Given the description of an element on the screen output the (x, y) to click on. 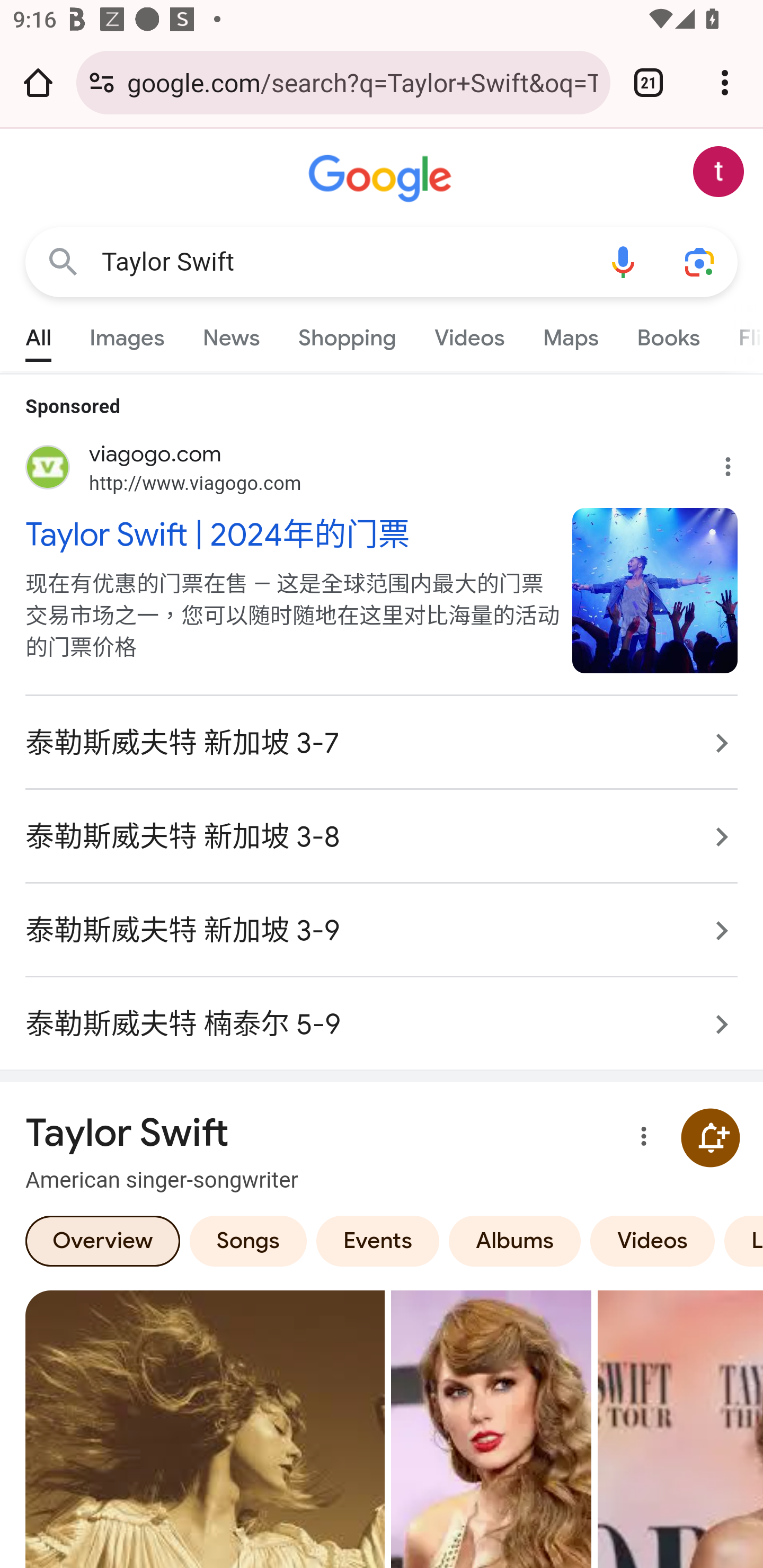
Open the home page (38, 82)
Connection is secure (101, 82)
Switch or close tabs (648, 82)
Customize and control Google Chrome (724, 82)
Google (381, 179)
Google Search (63, 262)
Search using your camera or photos (699, 262)
Taylor Swift (343, 261)
Images (127, 333)
News (231, 333)
Shopping (347, 333)
Videos (469, 333)
Maps (570, 333)
Books (668, 333)
Why this ad? (738, 462)
Image from viagogo.com (654, 590)
Taylor Swift | 2024年的门票 (289, 533)
泰勒斯威夫特 新加坡 3-7 (381, 743)
泰勒斯威夫特 新加坡 3-8 (381, 837)
泰勒斯威夫特 新加坡 3-9 (381, 930)
泰勒斯威夫特 楠泰尔 5-9 (381, 1014)
Get notifications about Taylor Swift (710, 1137)
More options (640, 1138)
Overview (103, 1240)
Songs (247, 1240)
Events (376, 1240)
Albums (514, 1240)
Videos (652, 1240)
Taylor Swift News - Us Weekly (490, 1428)
